Given the description of an element on the screen output the (x, y) to click on. 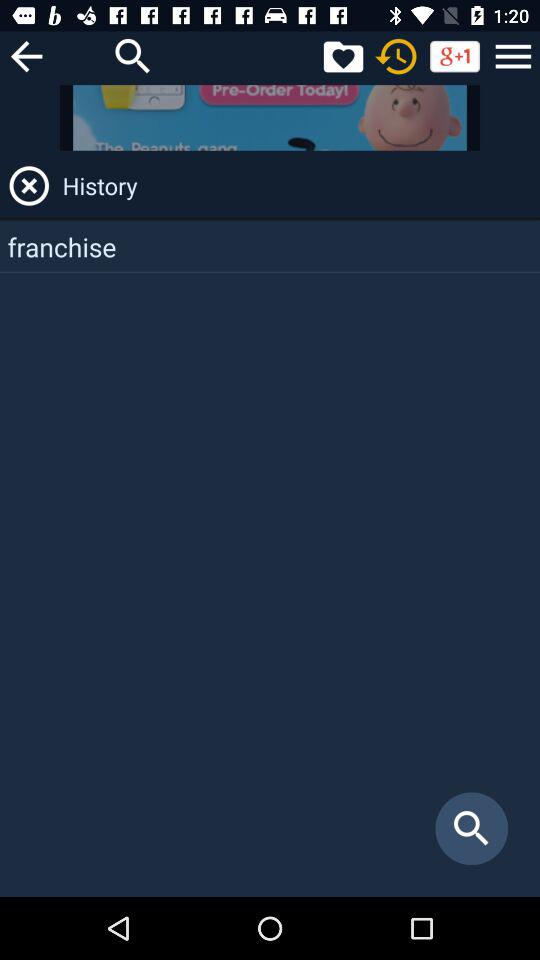
swipe to the franchise (270, 246)
